Given the description of an element on the screen output the (x, y) to click on. 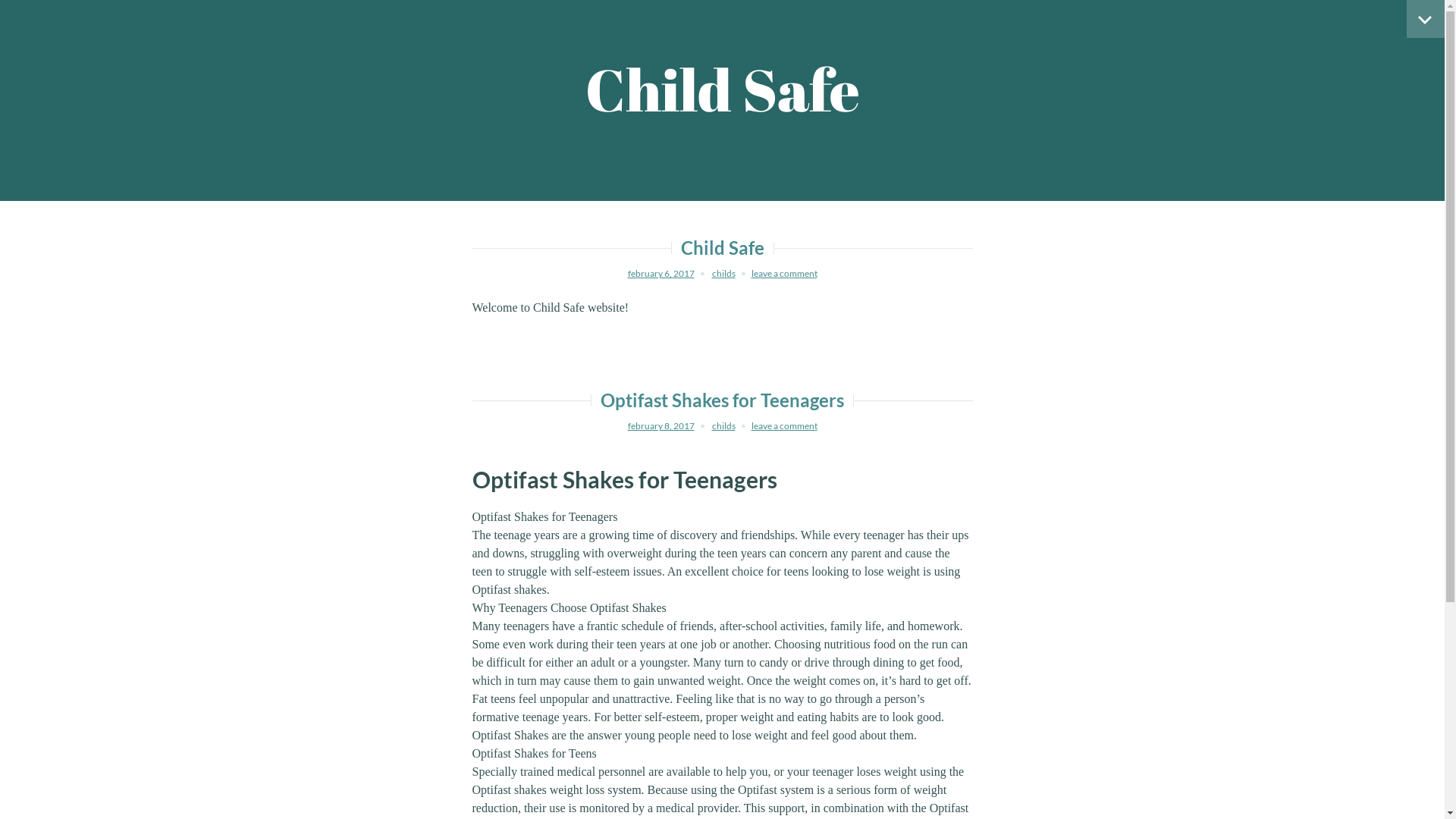
Optifast Shakes for Teenagers Element type: text (722, 400)
leave a comment Element type: text (783, 425)
february 8, 2017 Element type: text (660, 425)
february 6, 2017 Element type: text (660, 273)
childs Element type: text (722, 425)
leave a comment Element type: text (783, 273)
childs Element type: text (722, 273)
Child Safe Element type: text (722, 89)
Skip to content Element type: text (0, 0)
Sidebar Element type: text (1425, 18)
Child Safe Element type: text (722, 247)
